Given the description of an element on the screen output the (x, y) to click on. 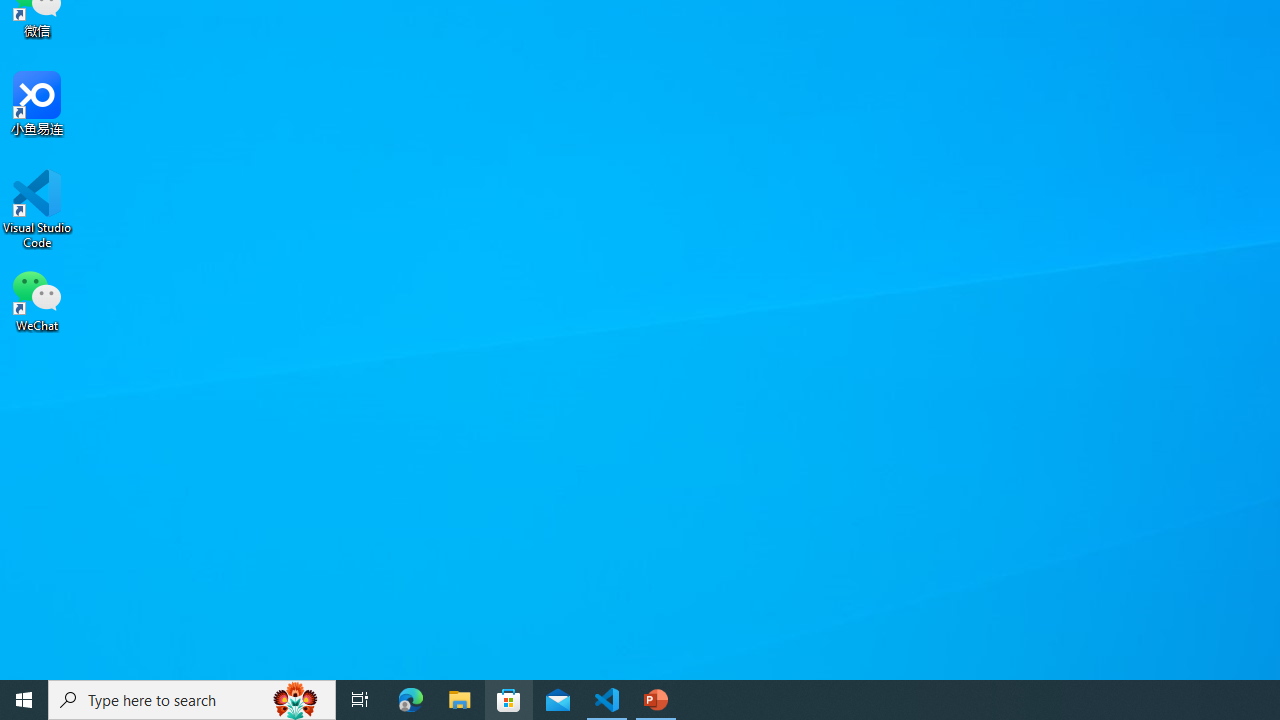
Visual Studio Code (37, 209)
WeChat (37, 299)
Microsoft Edge (411, 699)
